Given the description of an element on the screen output the (x, y) to click on. 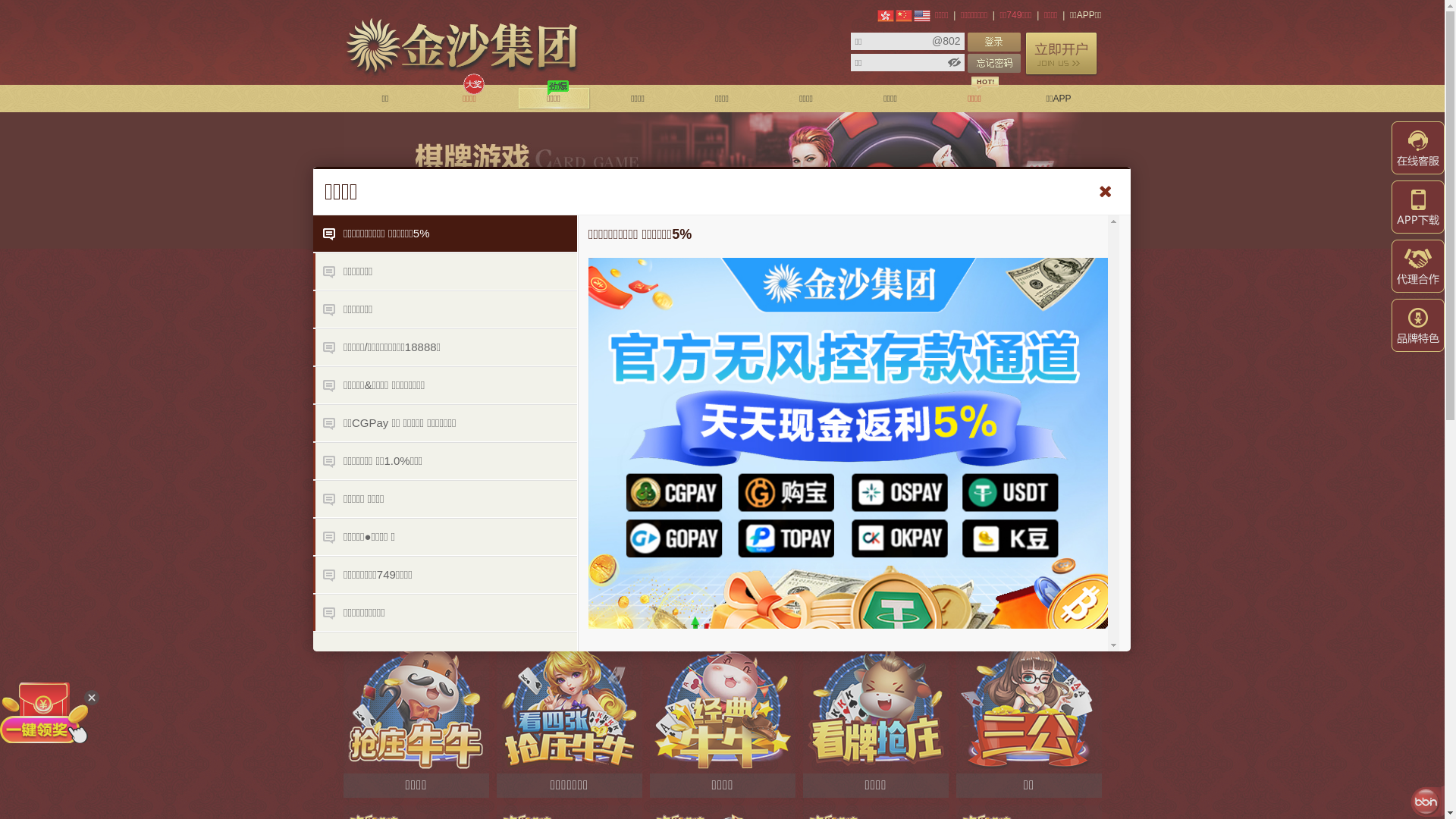
English Element type: hover (921, 15)
  Element type: text (993, 41)
